Given the description of an element on the screen output the (x, y) to click on. 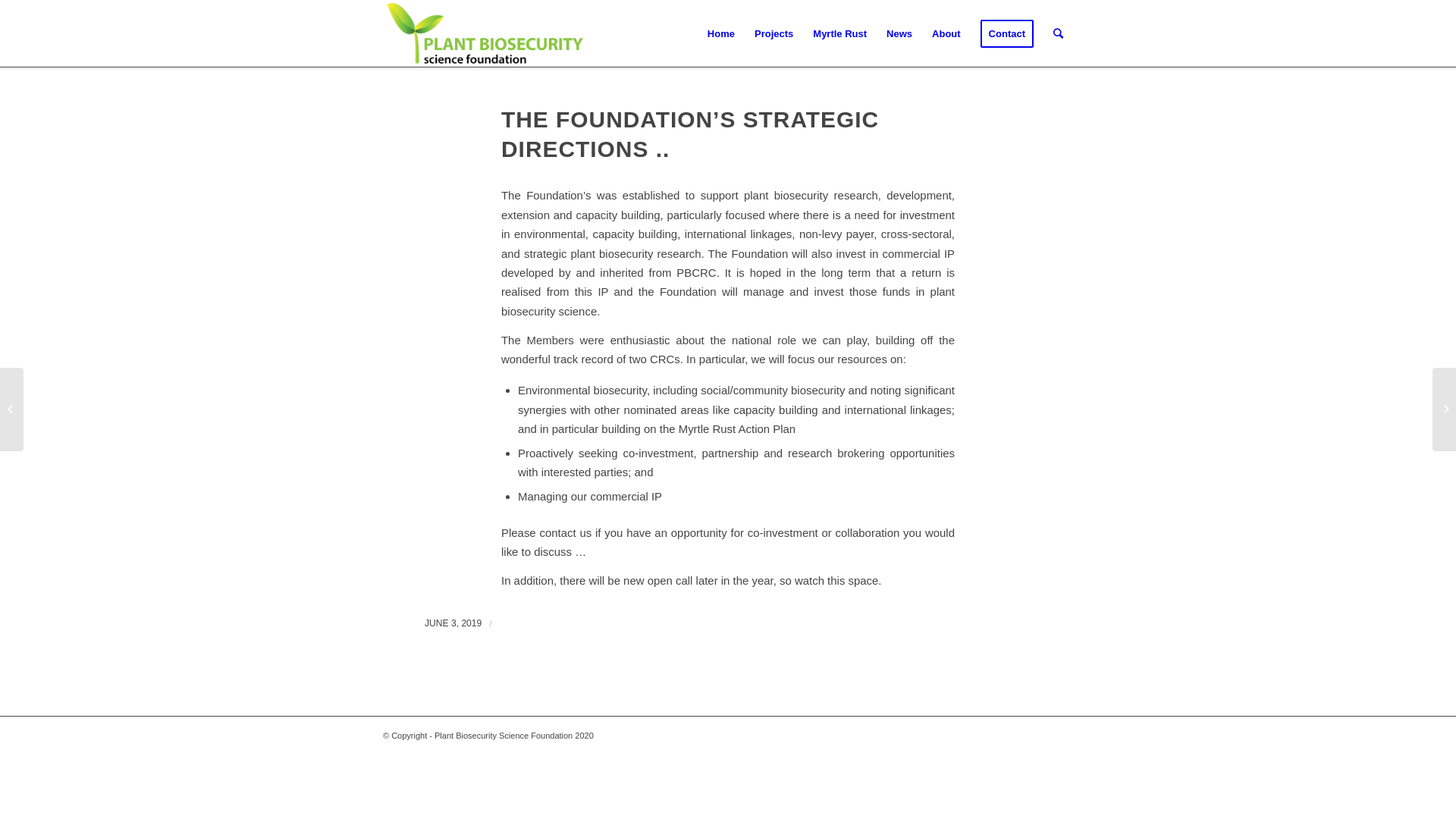
Projects Element type: text (773, 34)
About Element type: text (946, 34)
Myrtle Rust Element type: text (839, 34)
Home Element type: text (720, 34)
Contact Element type: text (1006, 34)
News Element type: text (899, 34)
